Given the description of an element on the screen output the (x, y) to click on. 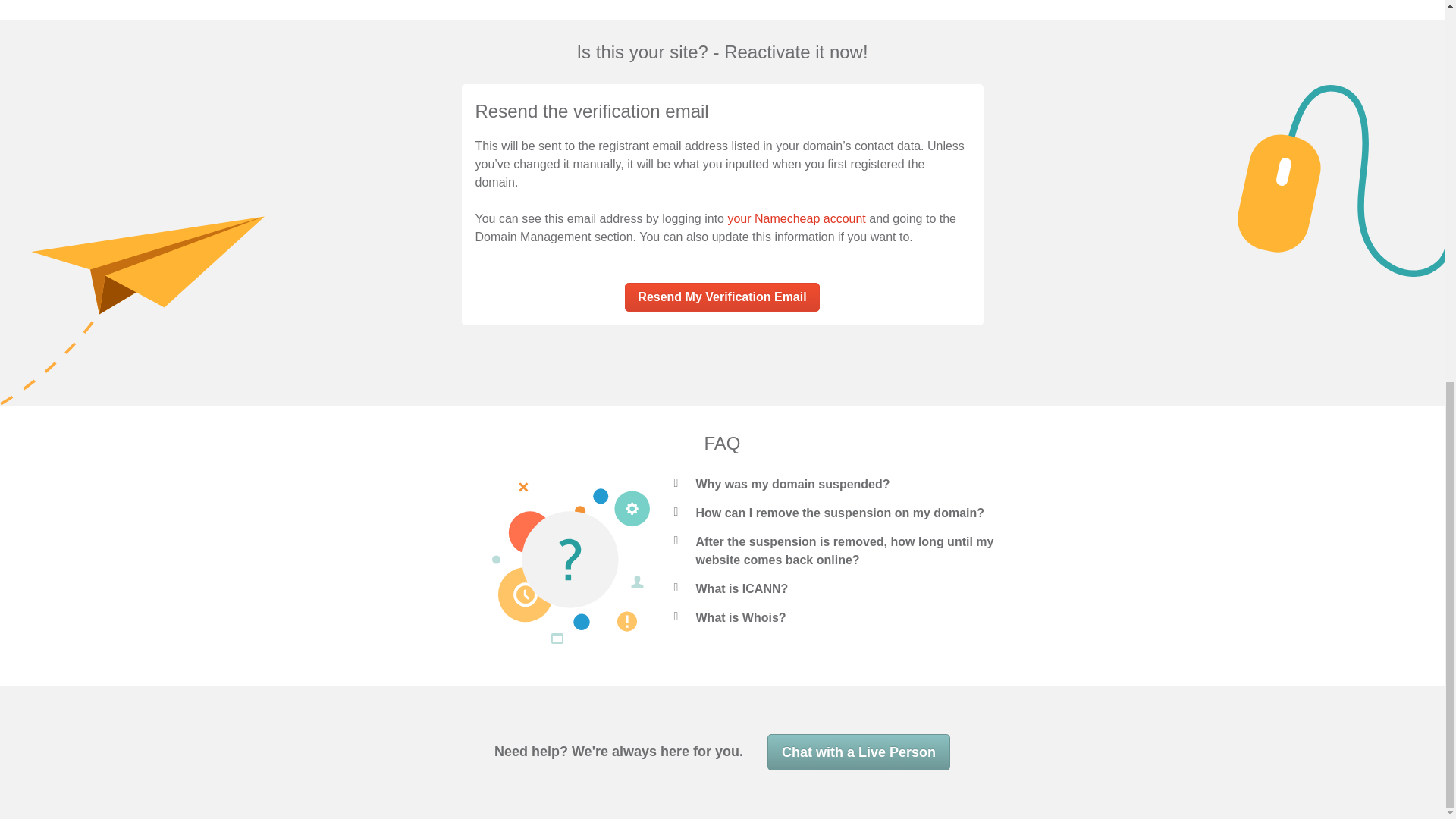
your Namecheap account (795, 218)
Resend My Verification Email (721, 297)
Chat with a Live Person (858, 751)
